Given the description of an element on the screen output the (x, y) to click on. 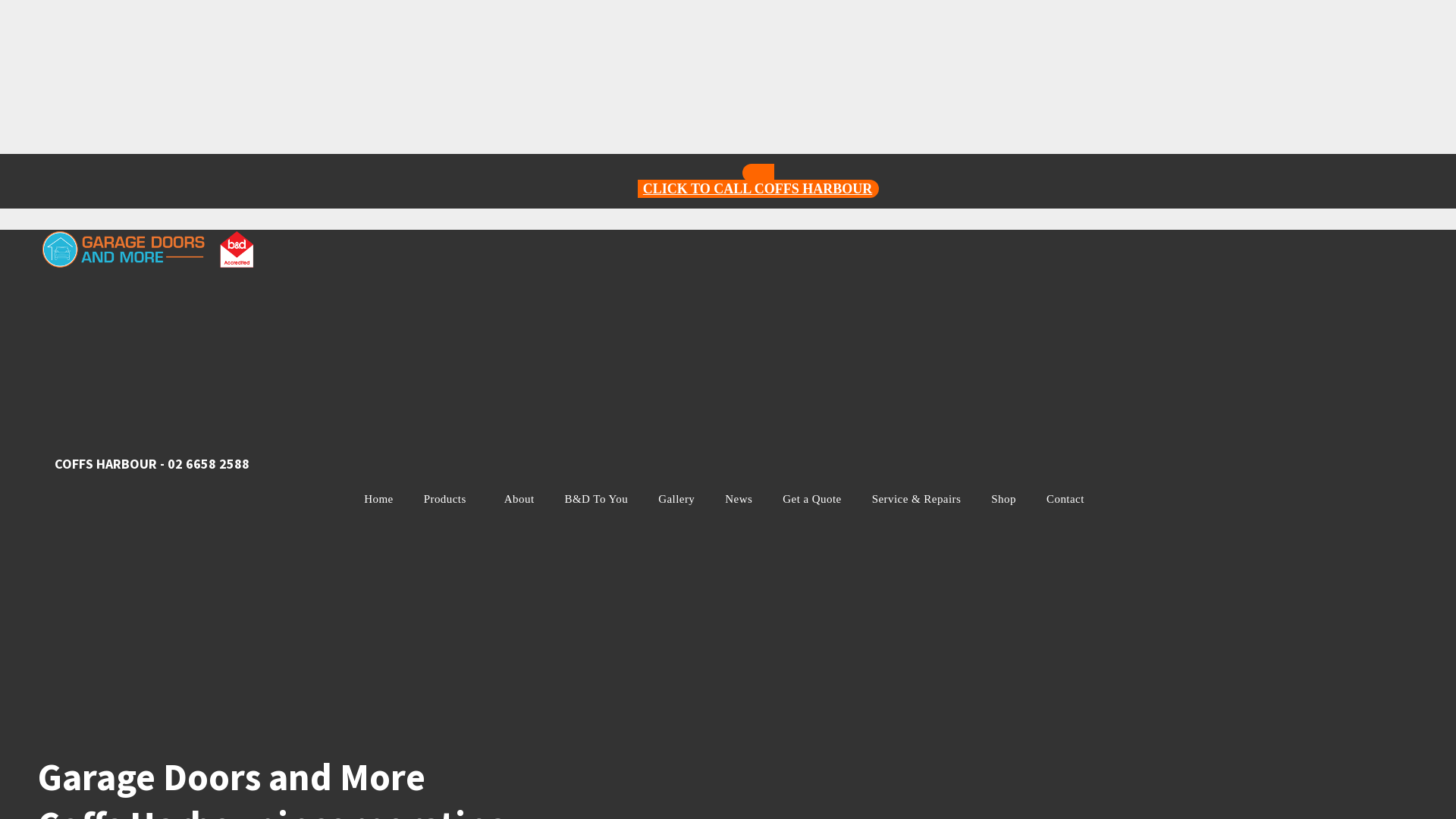
Gallery Element type: text (676, 498)
Shop Element type: text (1003, 498)
News Element type: text (738, 498)
About Element type: text (519, 498)
B&D To You Element type: text (596, 498)
02 Element type: text (174, 463)
Home Element type: text (377, 498)
Service & Repairs Element type: text (916, 498)
Contact Element type: text (1069, 498)
Get a Quote Element type: text (811, 498)
Products Element type: text (448, 498)
